Given the description of an element on the screen output the (x, y) to click on. 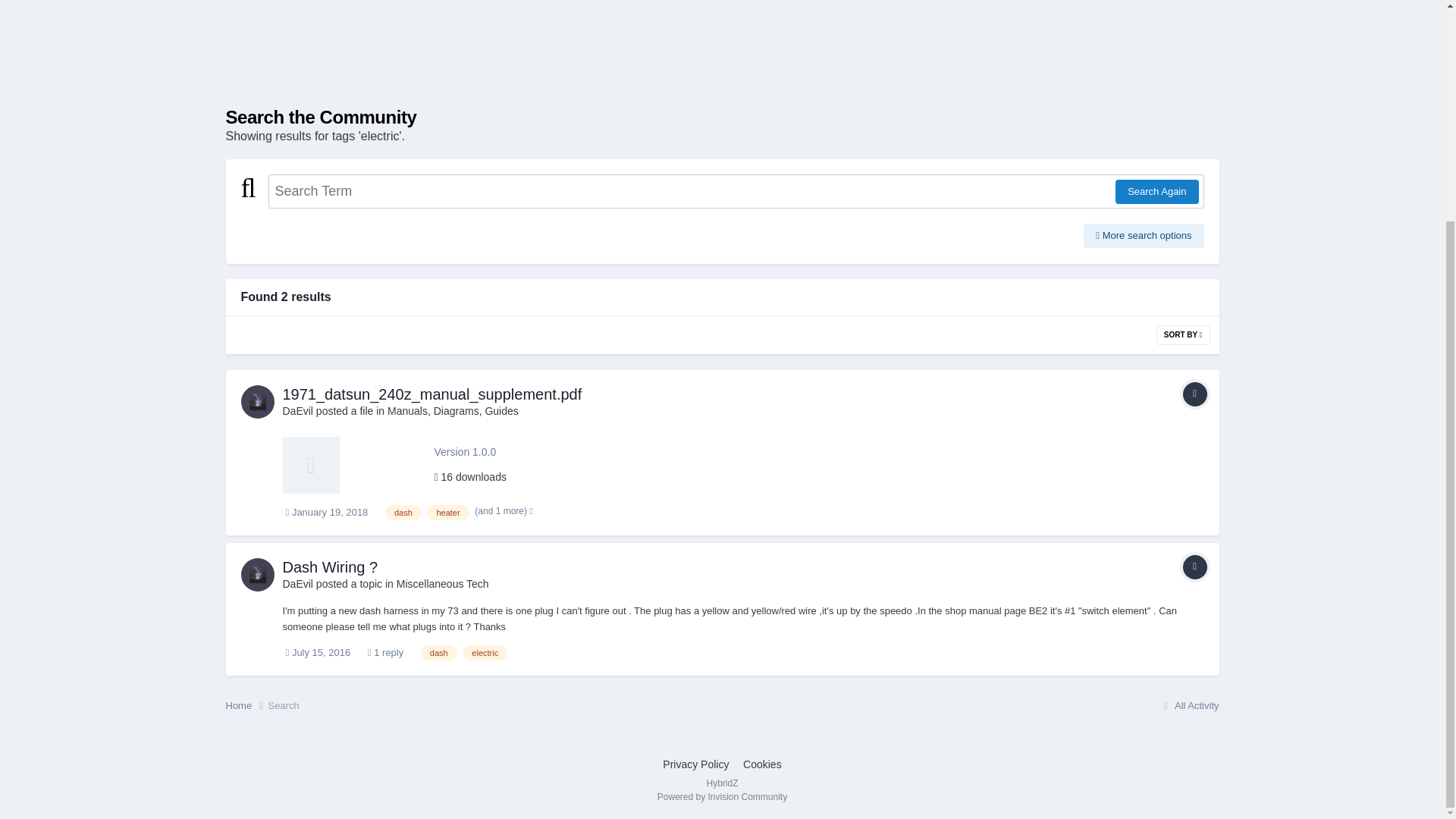
Go to DaEvil's profile (258, 574)
File (1194, 394)
Find other content tagged with 'heater' (447, 512)
Search Again (1156, 191)
More search options (1143, 235)
Go to DaEvil's profile (258, 401)
Find other content tagged with 'dash' (403, 512)
Find other content tagged with 'electric' (484, 652)
Topic (1194, 567)
Find other content tagged with 'dash' (438, 652)
